Given the description of an element on the screen output the (x, y) to click on. 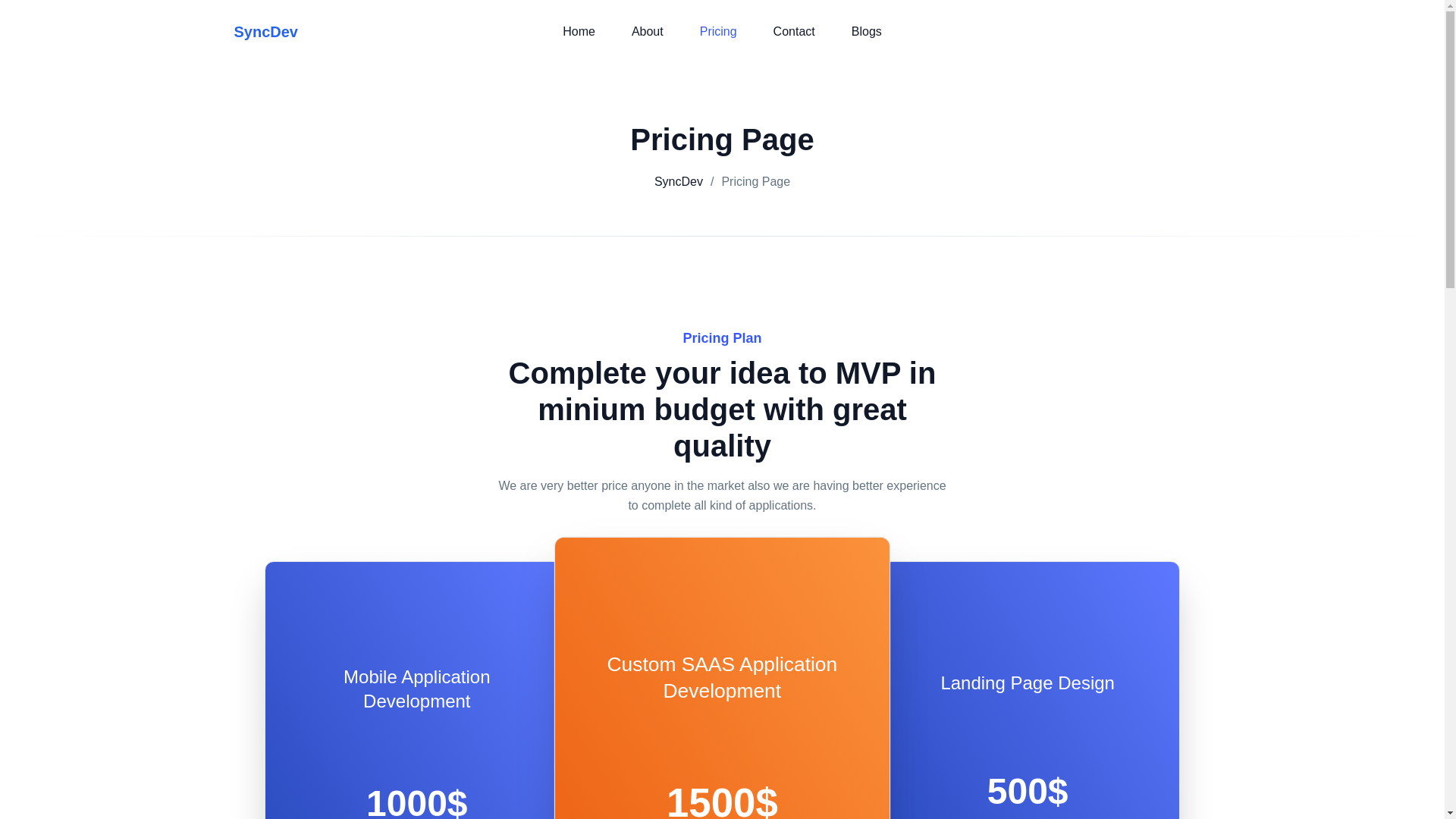
SyncDev (678, 181)
SyncDev (311, 31)
